Given the description of an element on the screen output the (x, y) to click on. 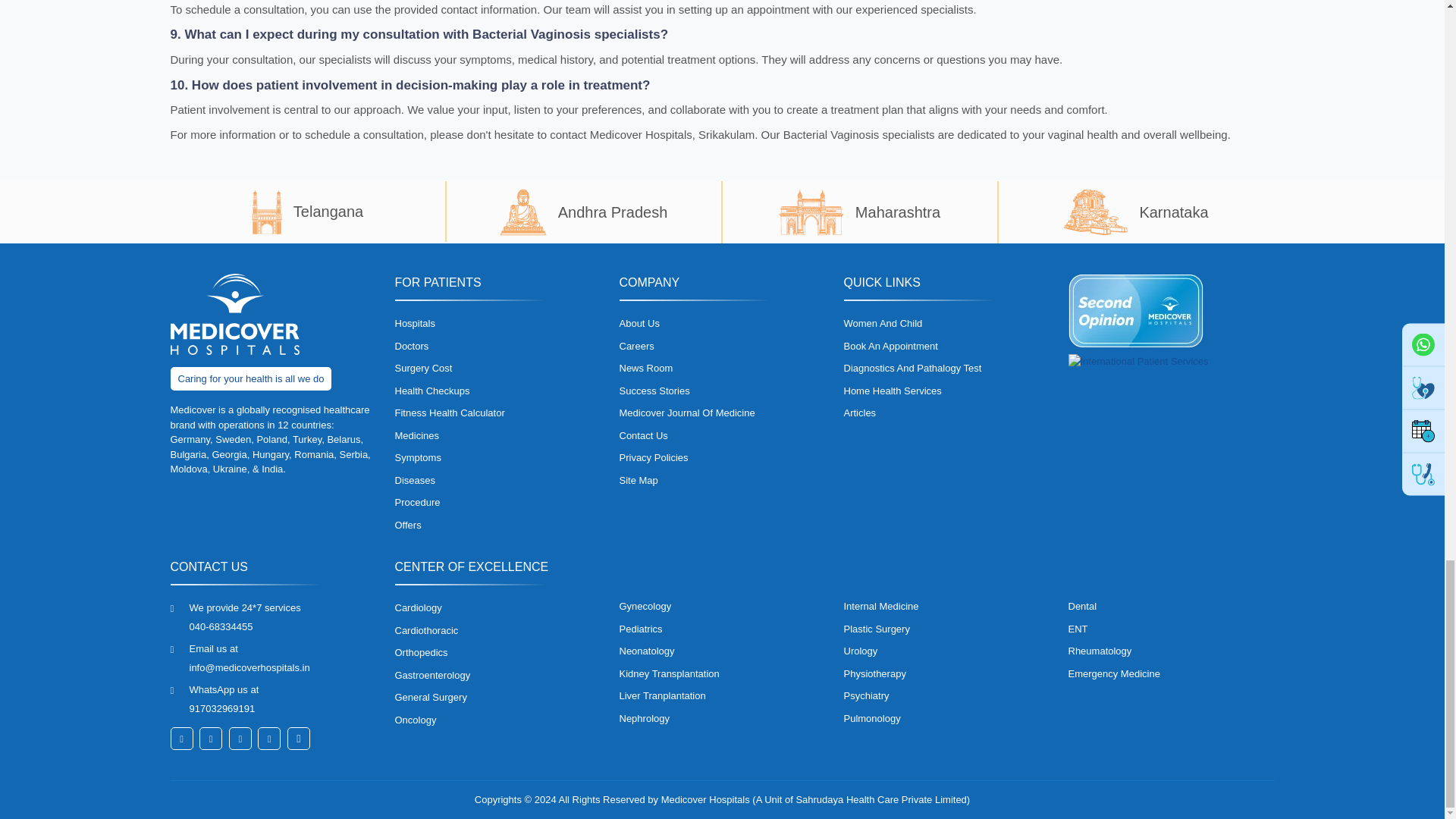
Follow us on Linkedin (239, 738)
Follow us on Instagram (269, 738)
Tweet us on Twitter (210, 738)
Like us on Facebook (181, 738)
Watch us on Youtube (298, 738)
